Given the description of an element on the screen output the (x, y) to click on. 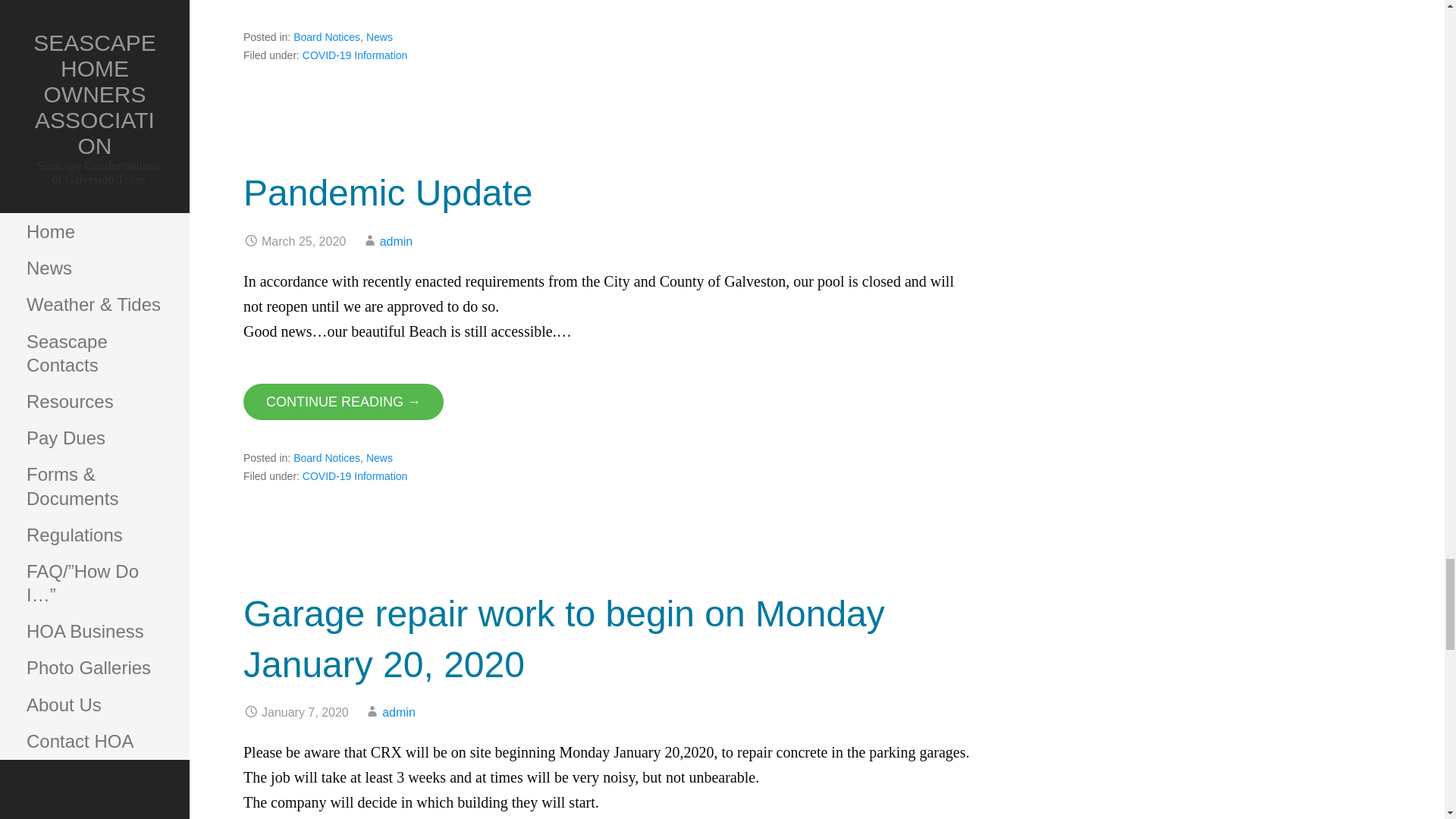
Posts by admin (396, 241)
Posts by admin (397, 712)
